Given the description of an element on the screen output the (x, y) to click on. 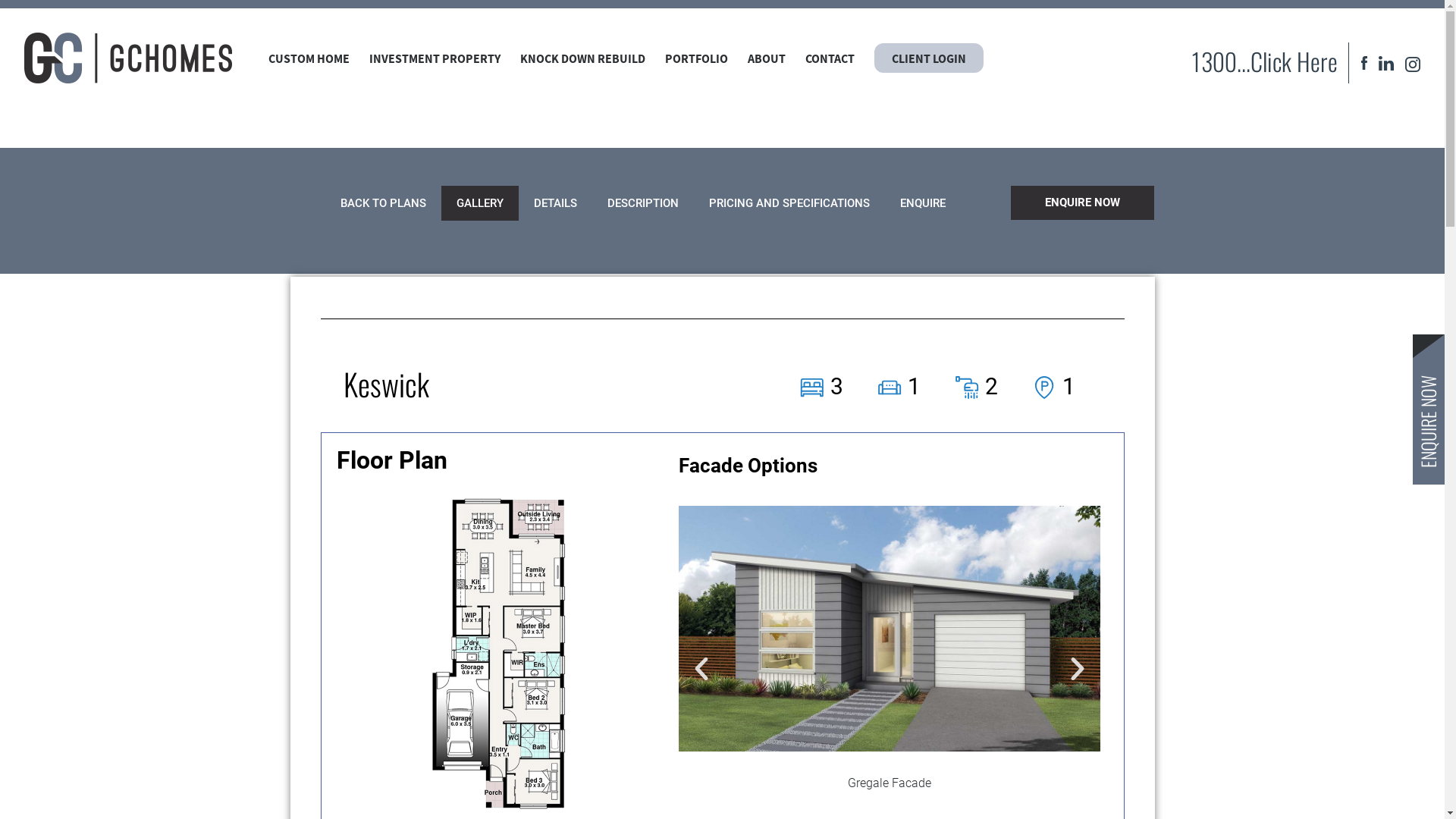
DETAILS Element type: text (555, 202)
ENQUIRE NOW Element type: text (1082, 202)
ABOUT Element type: text (766, 58)
1300...Click Here Element type: text (1263, 62)
PRICING AND SPECIFICATIONS Element type: text (788, 202)
Logo Element type: text (128, 57)
ENQUIRE Element type: text (922, 202)
KNOCK DOWN REBUILD Element type: text (582, 58)
GALLERY Element type: text (479, 202)
ENQUIRE NOW Element type: text (1428, 409)
INVESTMENT PROPERTY Element type: text (434, 58)
BACK TO PLANS Element type: text (383, 202)
Gregale Facade Element type: text (889, 660)
PORTFOLIO Element type: text (696, 58)
CUSTOM HOME Element type: text (308, 58)
CLIENT LOGIN Element type: text (928, 58)
DESCRIPTION Element type: text (642, 202)
CONTACT Element type: text (829, 58)
Franklin Facade Element type: text (467, 660)
